Given the description of an element on the screen output the (x, y) to click on. 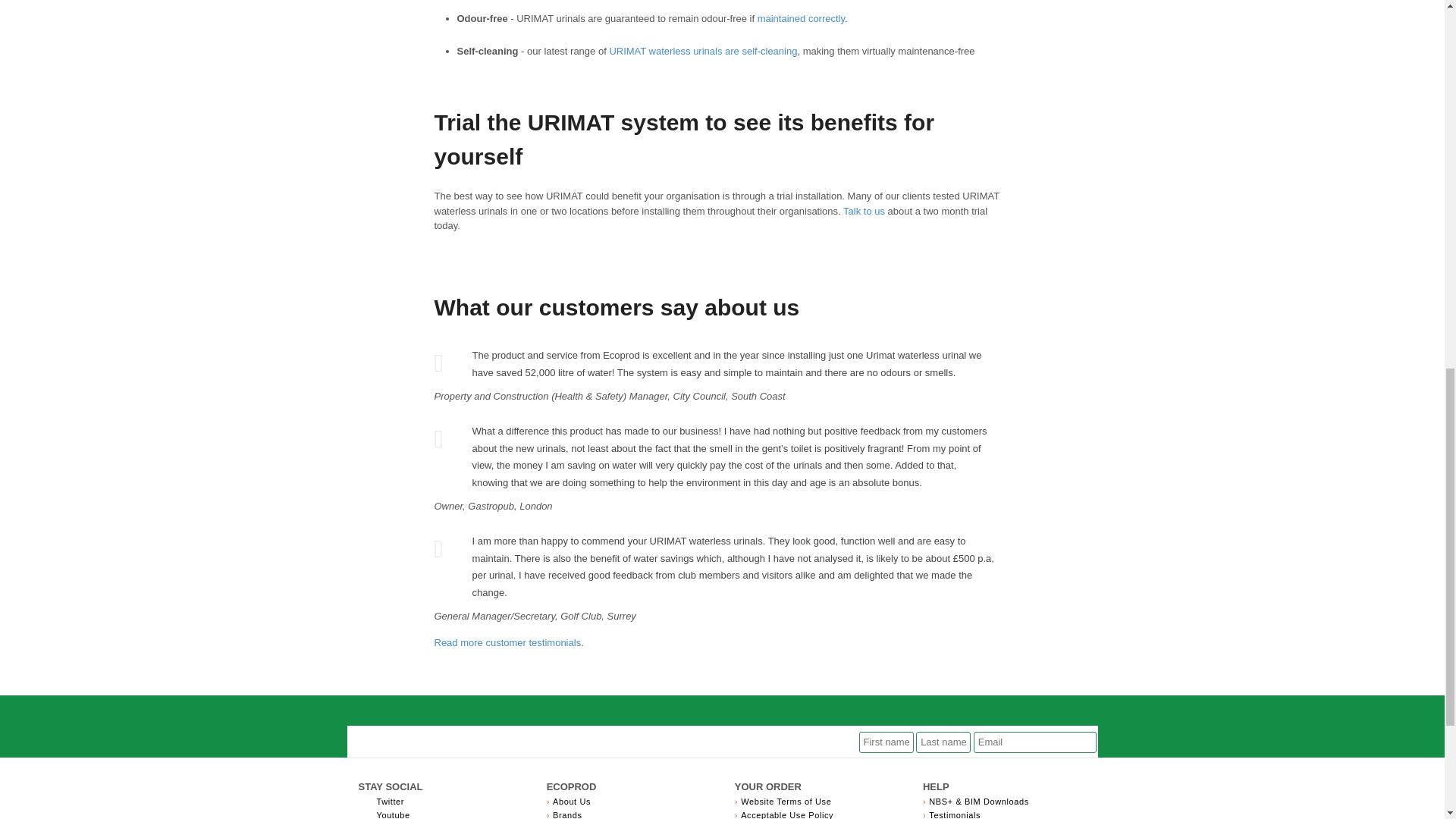
Brands (566, 814)
Website Terms of Use (786, 800)
Youtube (392, 814)
About Us (572, 800)
Follow Us On Twitter (389, 800)
Acceptable Use Policy (786, 814)
